Given the description of an element on the screen output the (x, y) to click on. 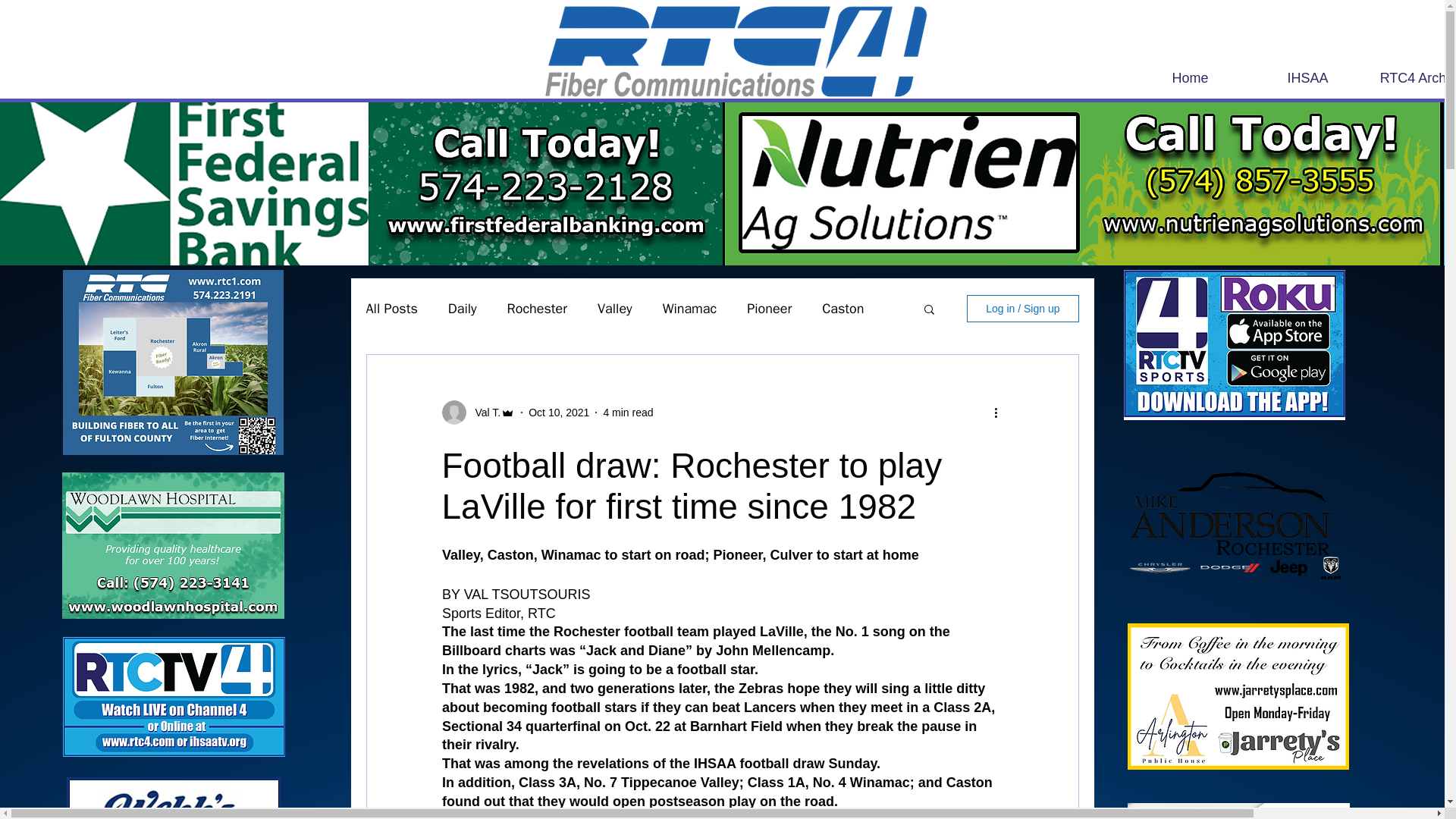
Valley (613, 308)
All Posts (390, 308)
Oct 10, 2021 (558, 412)
Winamac (689, 308)
Caston (842, 308)
RTC4 Archives (1411, 77)
Pioneer (769, 308)
Home (1190, 77)
Val T. (482, 412)
4 min read (627, 412)
Rochester (536, 308)
Daily (462, 308)
IHSAA (1308, 77)
